Given the description of an element on the screen output the (x, y) to click on. 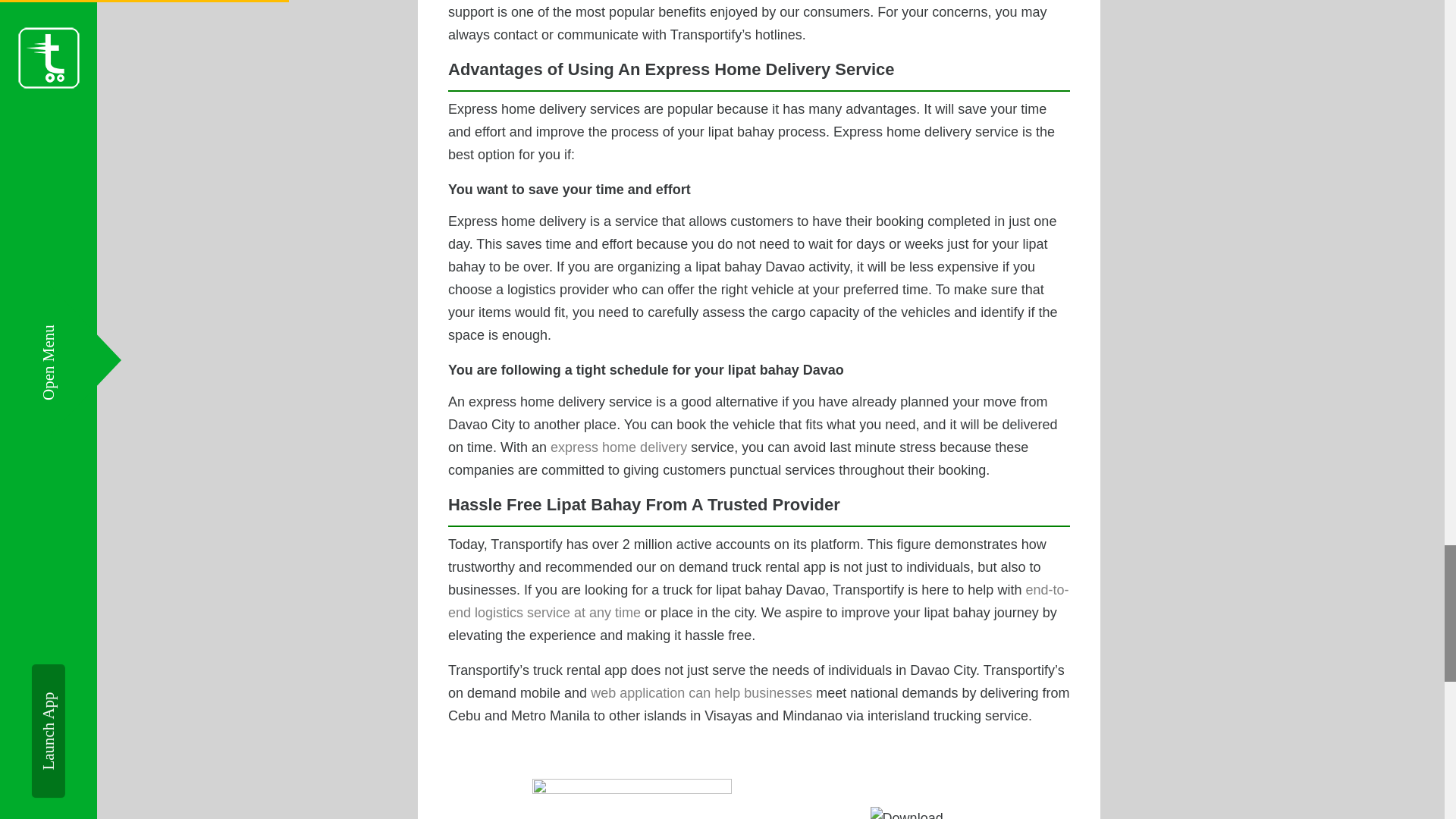
end-to-end logistics service at any time (758, 600)
web application can help businesses (701, 693)
express home delivery (618, 447)
